Given the description of an element on the screen output the (x, y) to click on. 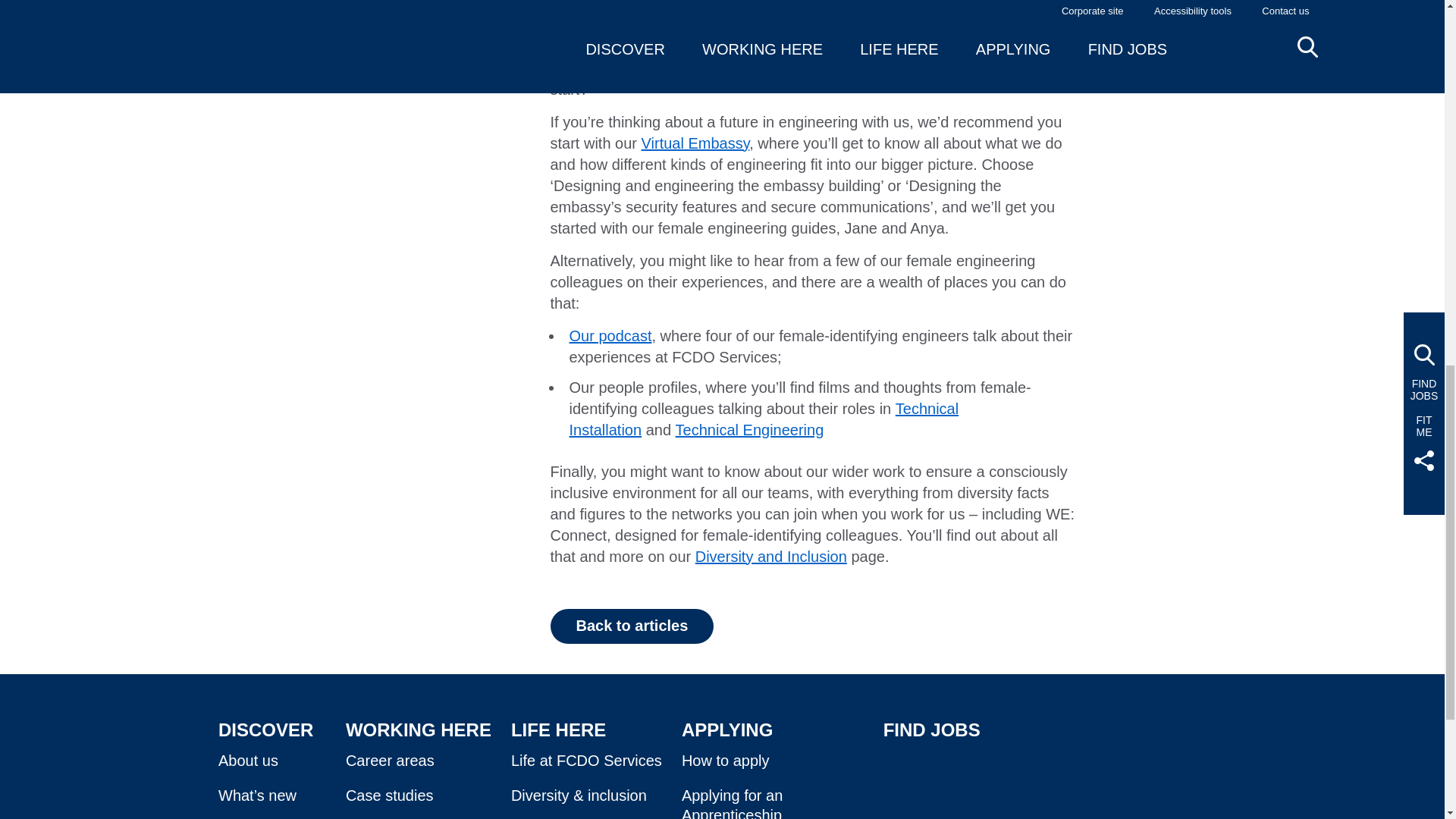
Back to articles (632, 626)
